Given the description of an element on the screen output the (x, y) to click on. 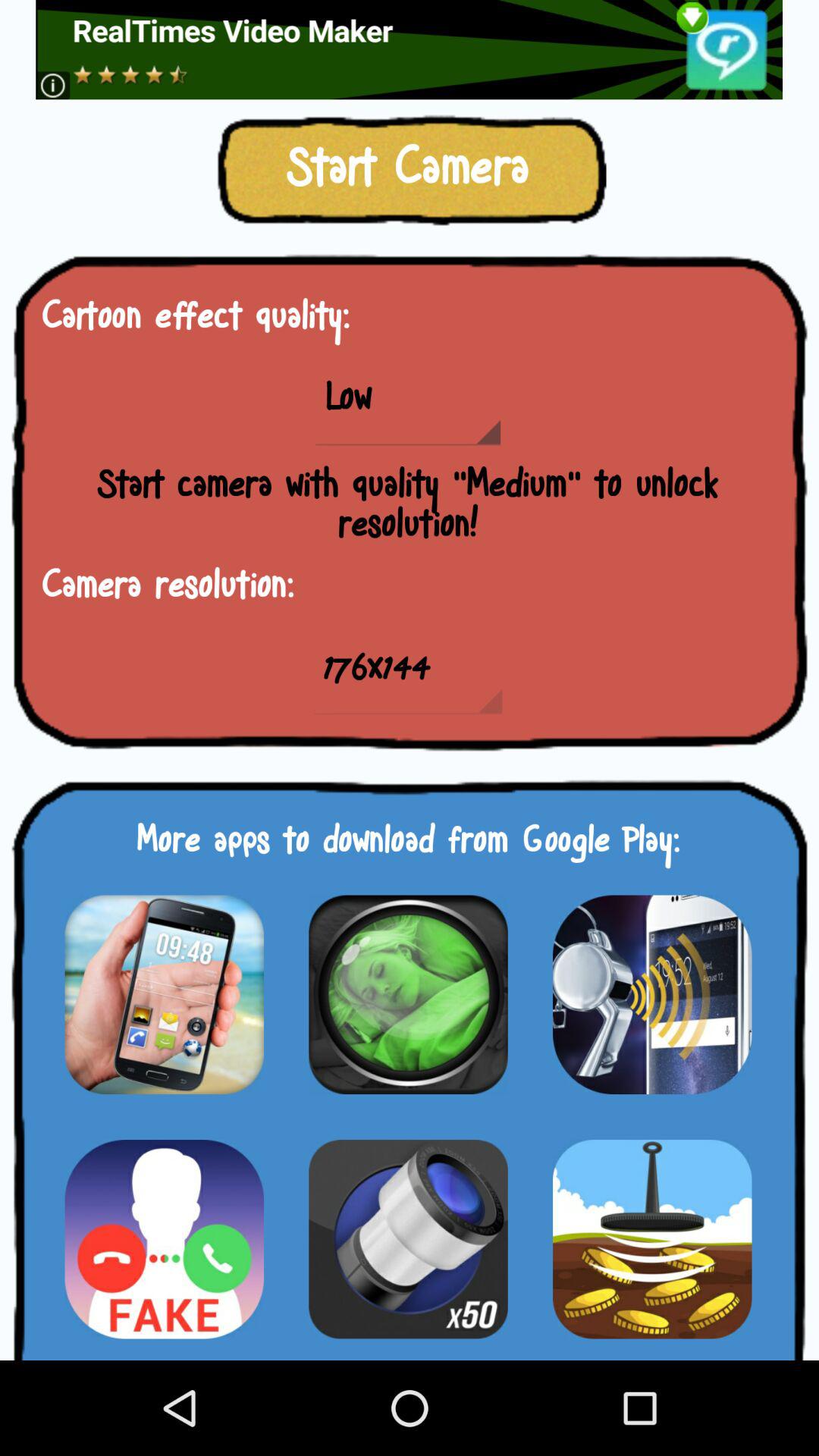
advertisement (408, 1239)
